Given the description of an element on the screen output the (x, y) to click on. 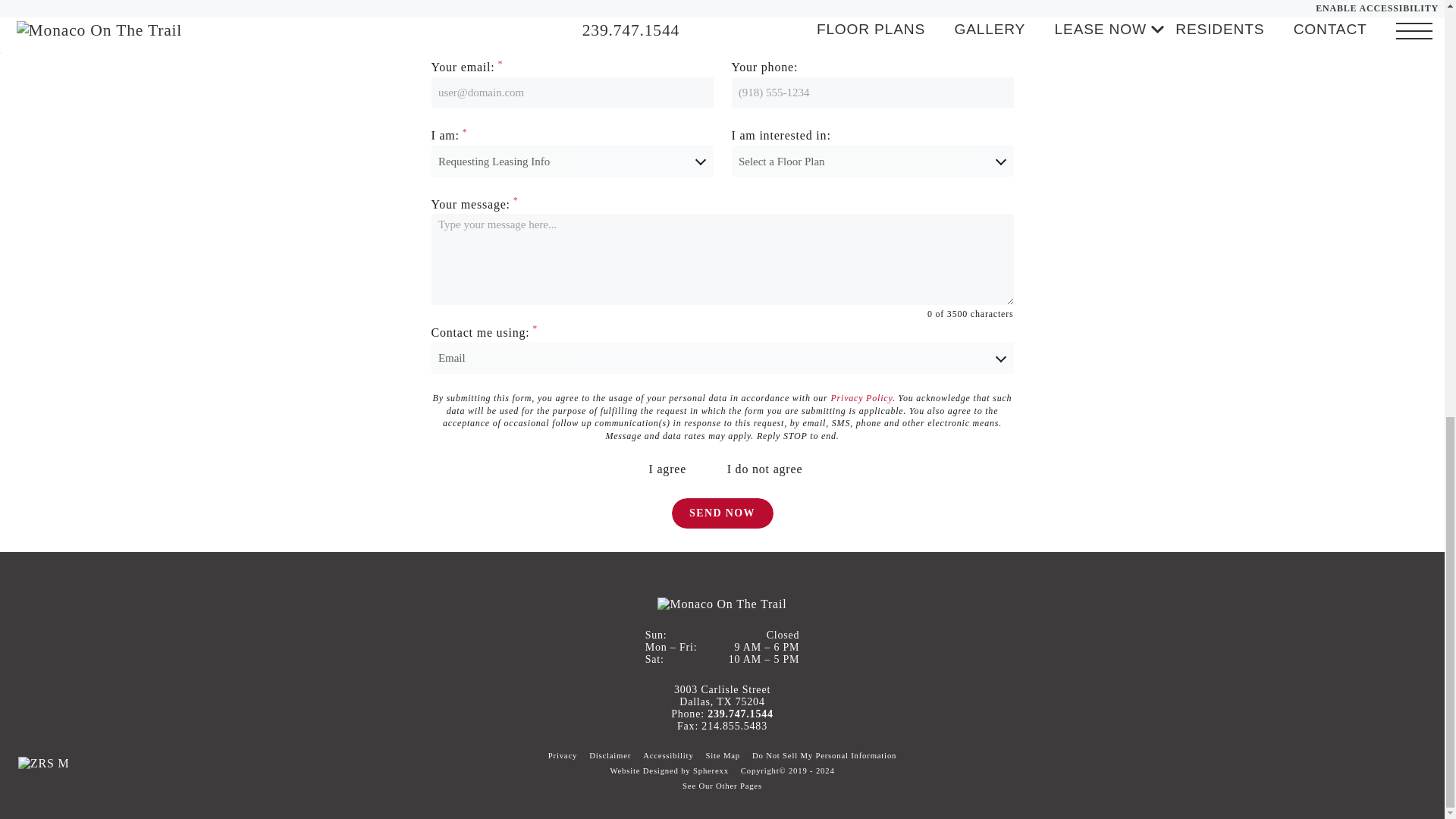
unchecked (636, 470)
Visit us on Google (1362, 762)
International Symbol of Access (126, 765)
unchecked (713, 470)
Visit us on Facebook (1331, 762)
Equal Housing Opportunity (99, 765)
Visit us on Instagram (1393, 762)
